Given the description of an element on the screen output the (x, y) to click on. 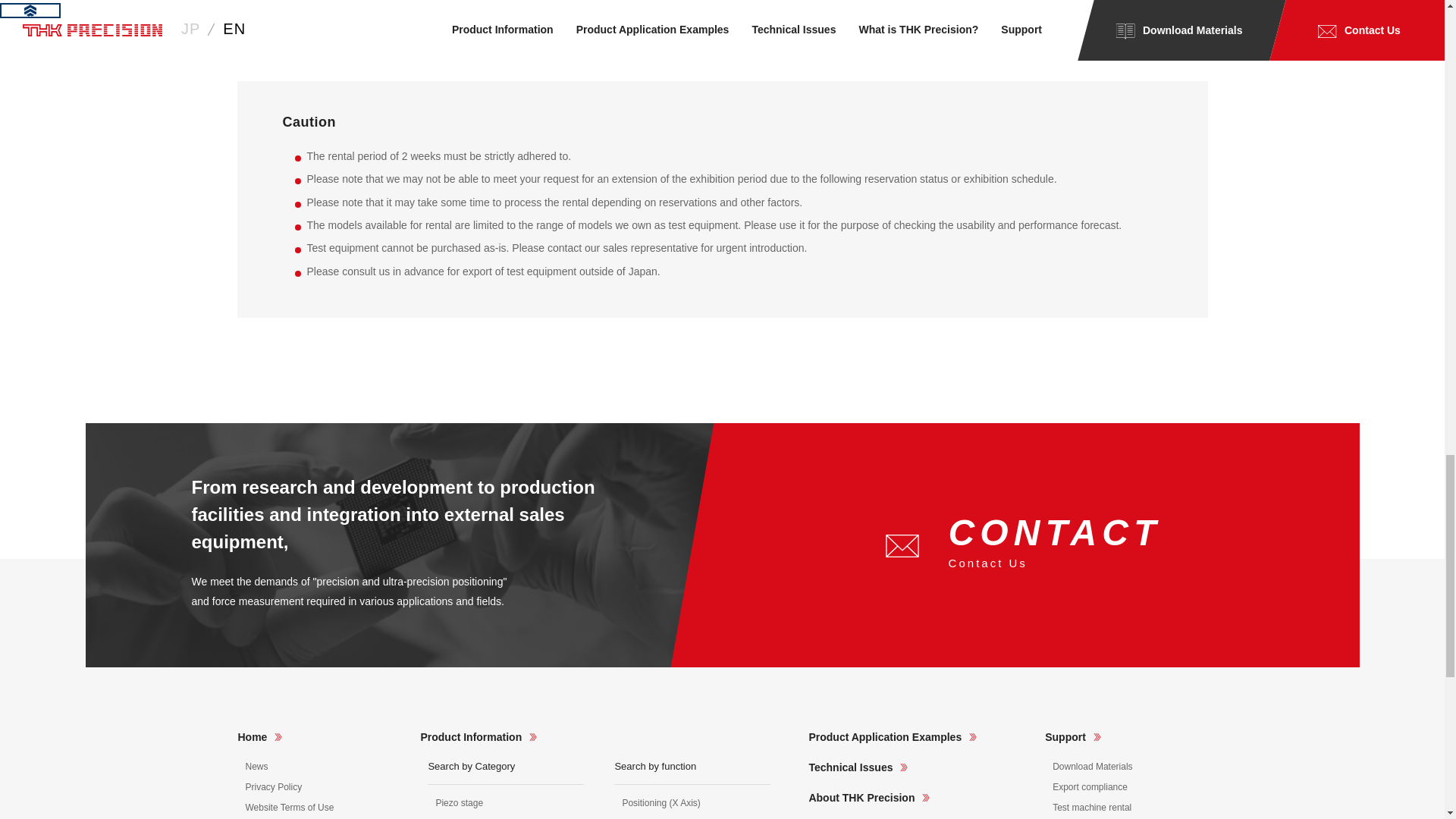
Search by Category (471, 766)
Privacy Policy (274, 787)
Search by function (654, 766)
Product Information (478, 737)
Piezo stage (459, 803)
Website Terms of Use (290, 808)
Piezo motor stage (471, 818)
About THK Precision (869, 797)
Technical Issues (857, 767)
Product Application Examples (892, 737)
